Given the description of an element on the screen output the (x, y) to click on. 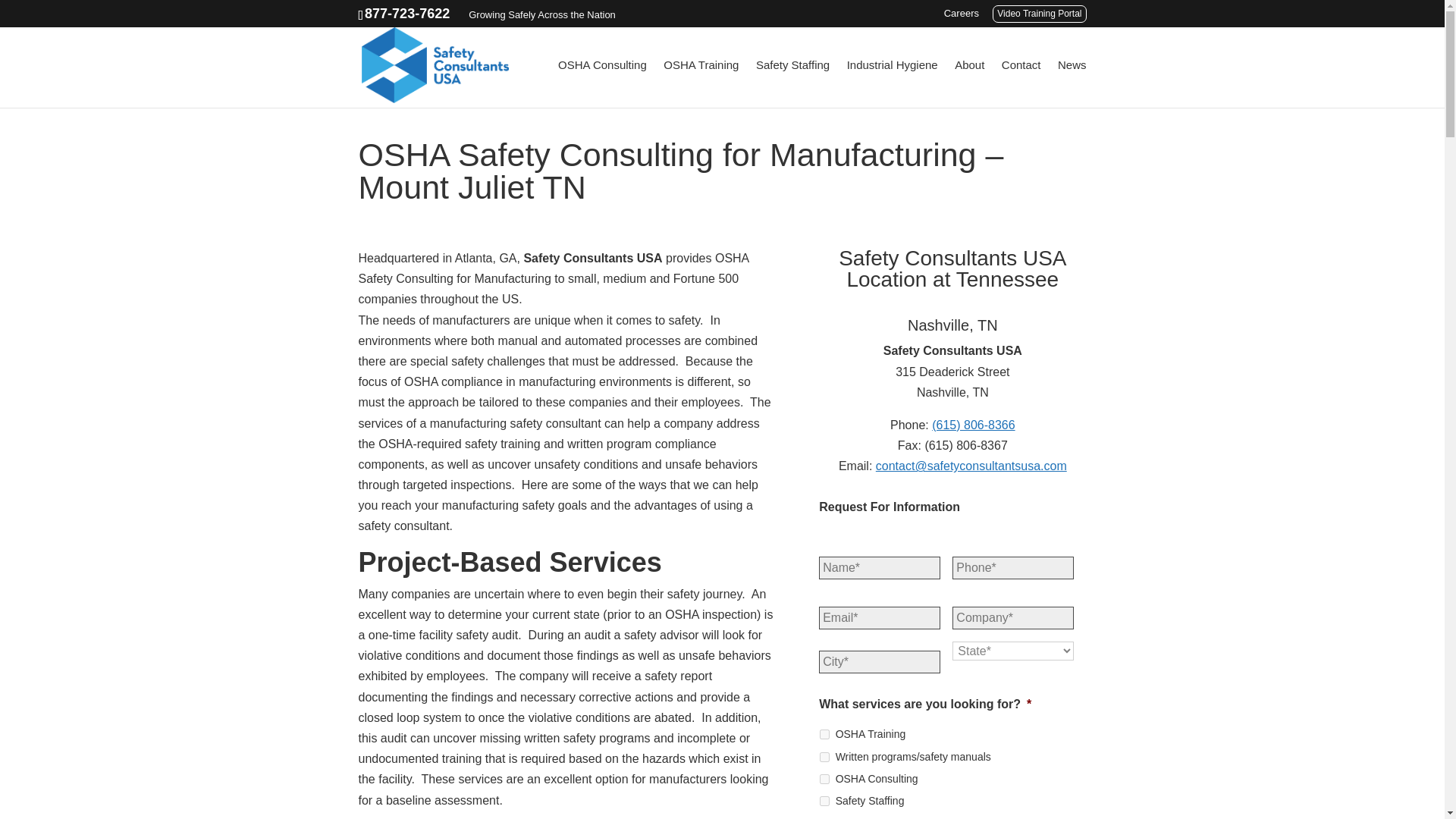
877-723-7622 (407, 13)
OSHA Consulting (824, 778)
Careers (960, 17)
OSHA Training (824, 734)
Safety Staffing (792, 83)
OSHA Consulting (601, 83)
OSHA Training (700, 83)
Industrial Hygiene (892, 83)
Safety Staffing (824, 800)
Video Training Portal (1039, 13)
